Given the description of an element on the screen output the (x, y) to click on. 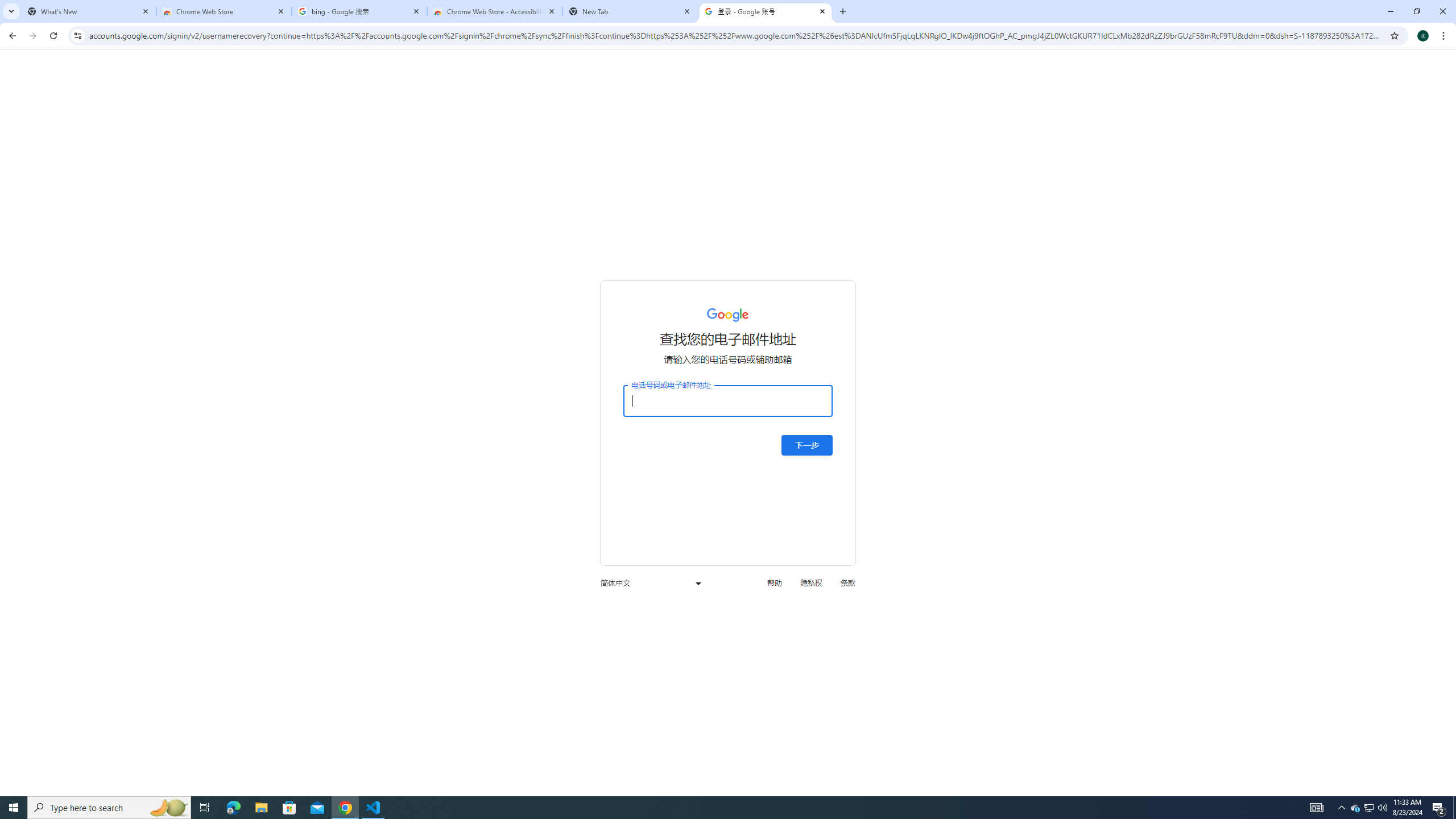
Hide Ink (1378, 77)
Sign in (1304, 18)
Change Tracking Options... (1068, 128)
Read Aloud (182, 92)
